Given the description of an element on the screen output the (x, y) to click on. 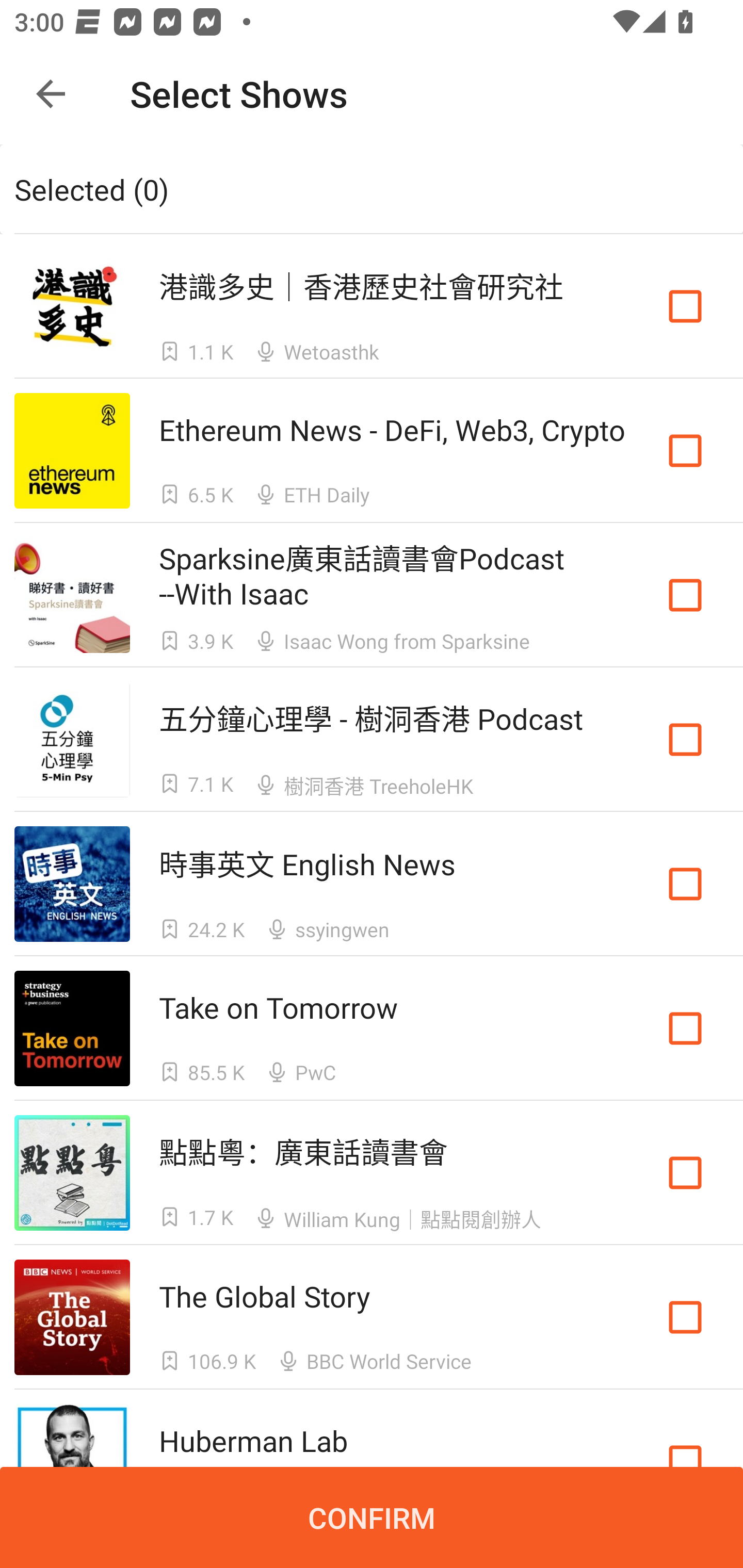
Navigate up (50, 93)
港識多史｜香港歷史社會研究社 港識多史｜香港歷史社會研究社  1.1 K  Wetoasthk (371, 305)
Take on Tomorrow Take on Tomorrow  85.5 K  PwC (371, 1028)
CONFIRM (371, 1517)
